Given the description of an element on the screen output the (x, y) to click on. 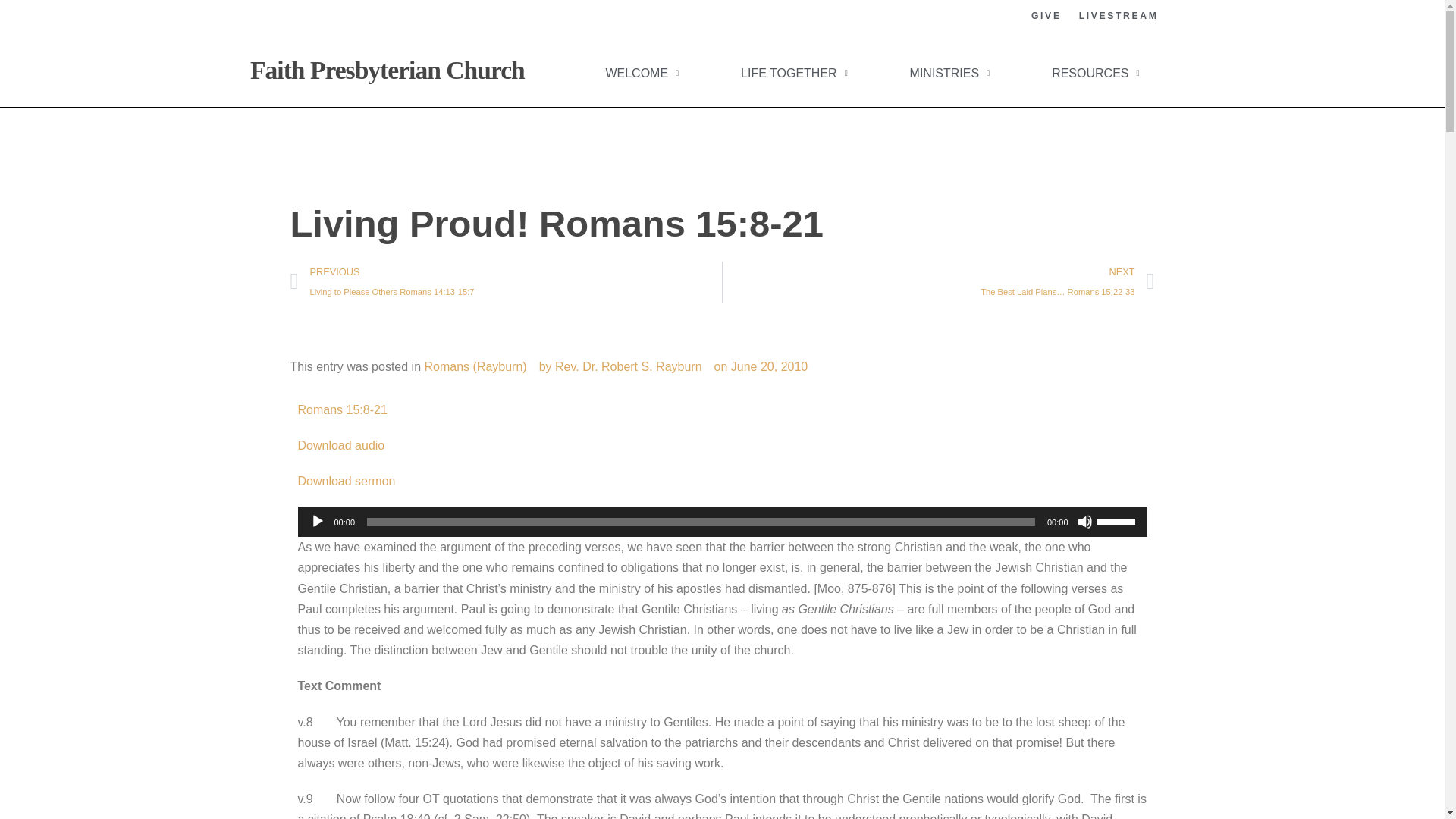
RESOURCES (1095, 73)
MINISTRIES (948, 73)
LIFE TOGETHER (794, 73)
Play (316, 521)
LIVESTREAM (1118, 15)
GIVE (1045, 15)
Mute (1084, 521)
WELCOME (641, 73)
Faith Presbyterian Church (387, 70)
